Given the description of an element on the screen output the (x, y) to click on. 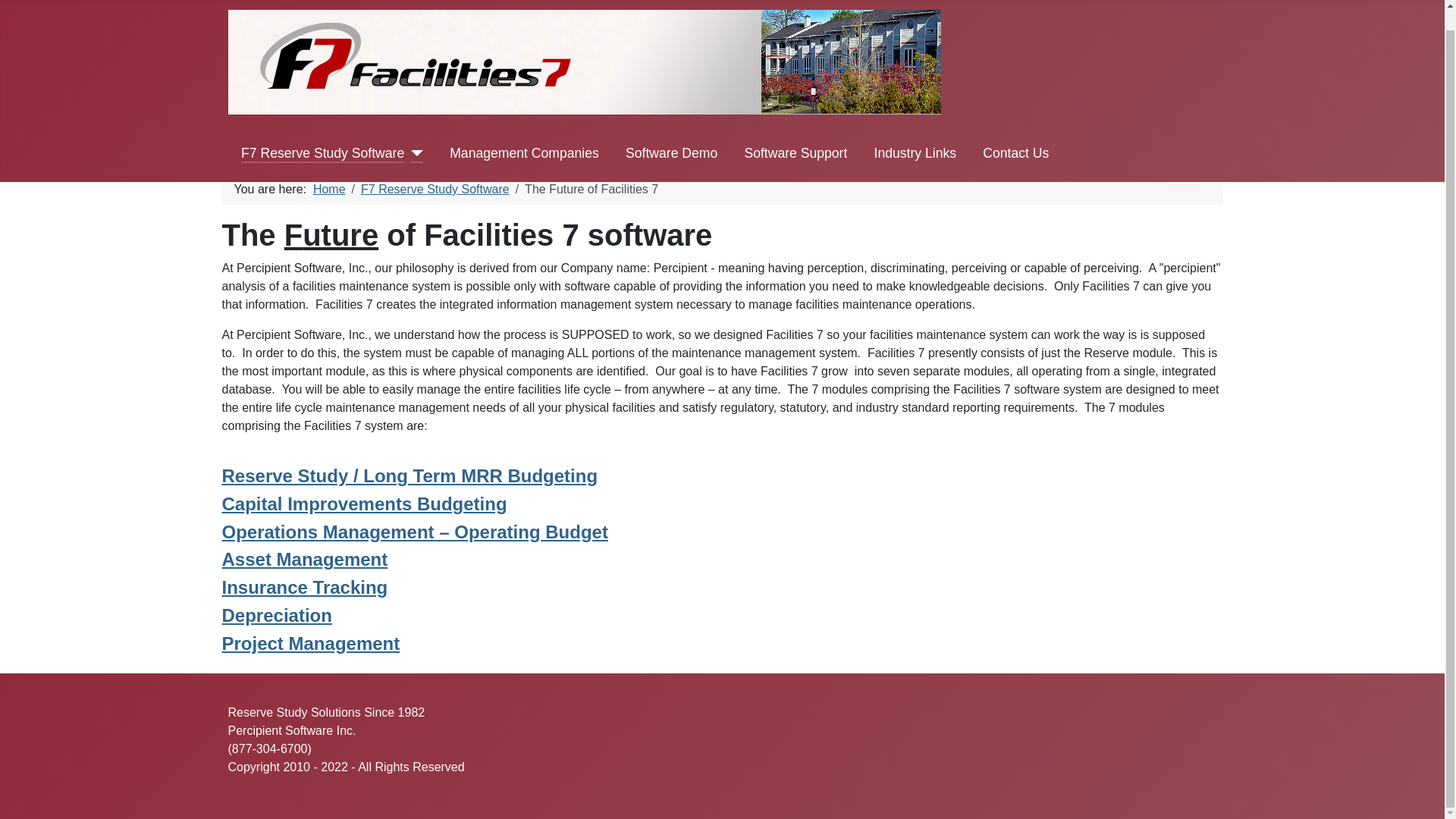
Capital Improvements Budgeting (363, 503)
Software Support (795, 133)
Insurance Tracking (304, 587)
F7 Reserve Study Software (435, 188)
Software Demo (671, 133)
F7 Reserve Study Software (322, 133)
Management Companies (523, 133)
Project Management (309, 643)
Industry Links (915, 133)
Home (329, 188)
Contact Us (1015, 133)
Depreciation (276, 615)
Asset Management (304, 558)
